Given the description of an element on the screen output the (x, y) to click on. 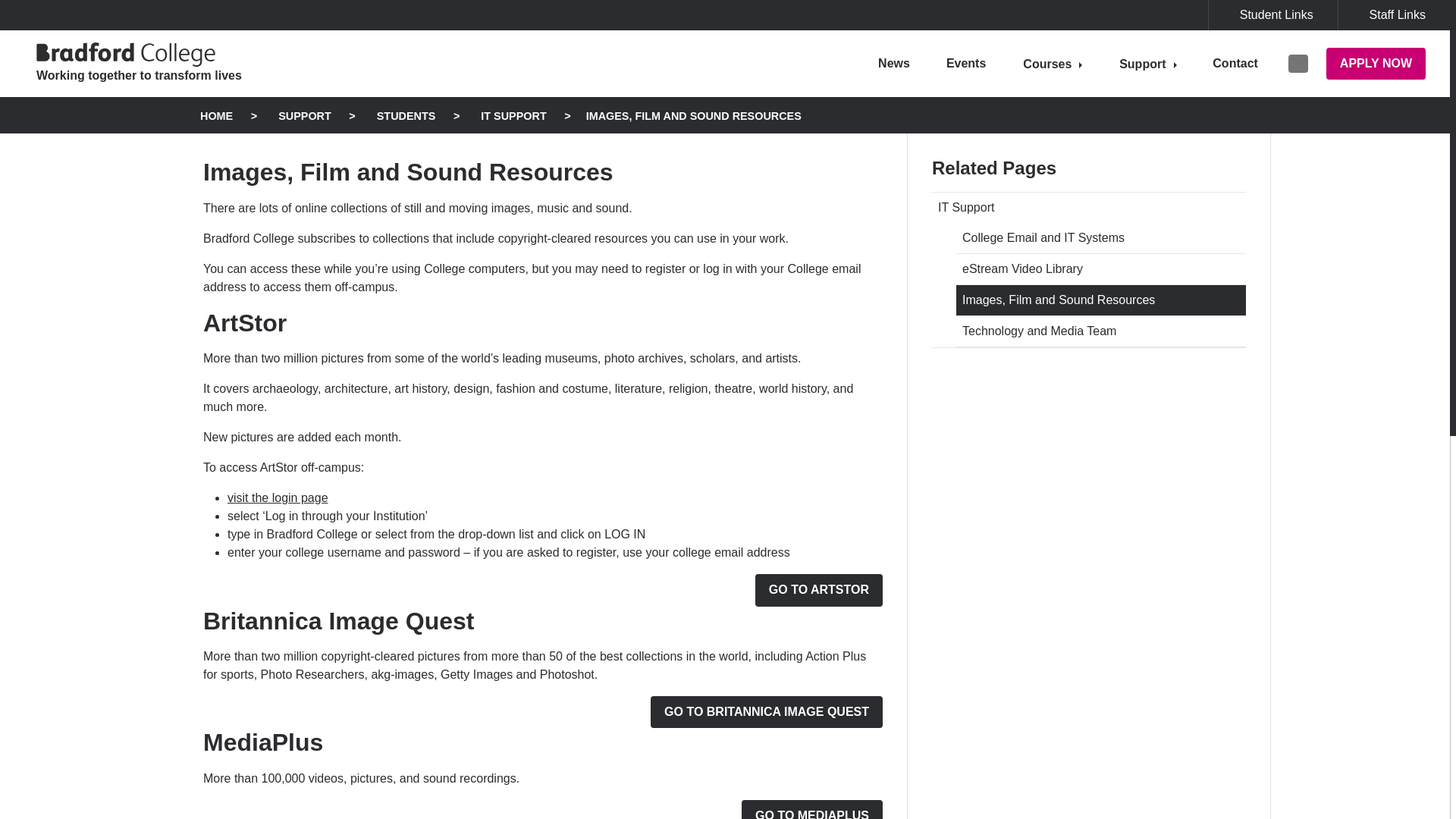
News (893, 63)
Courses (1052, 63)
Events (965, 63)
Events (965, 63)
  Student Links (1273, 15)
News (893, 63)
Support (1147, 63)
Working together to transform lives (145, 63)
Courses (1052, 63)
